Given the description of an element on the screen output the (x, y) to click on. 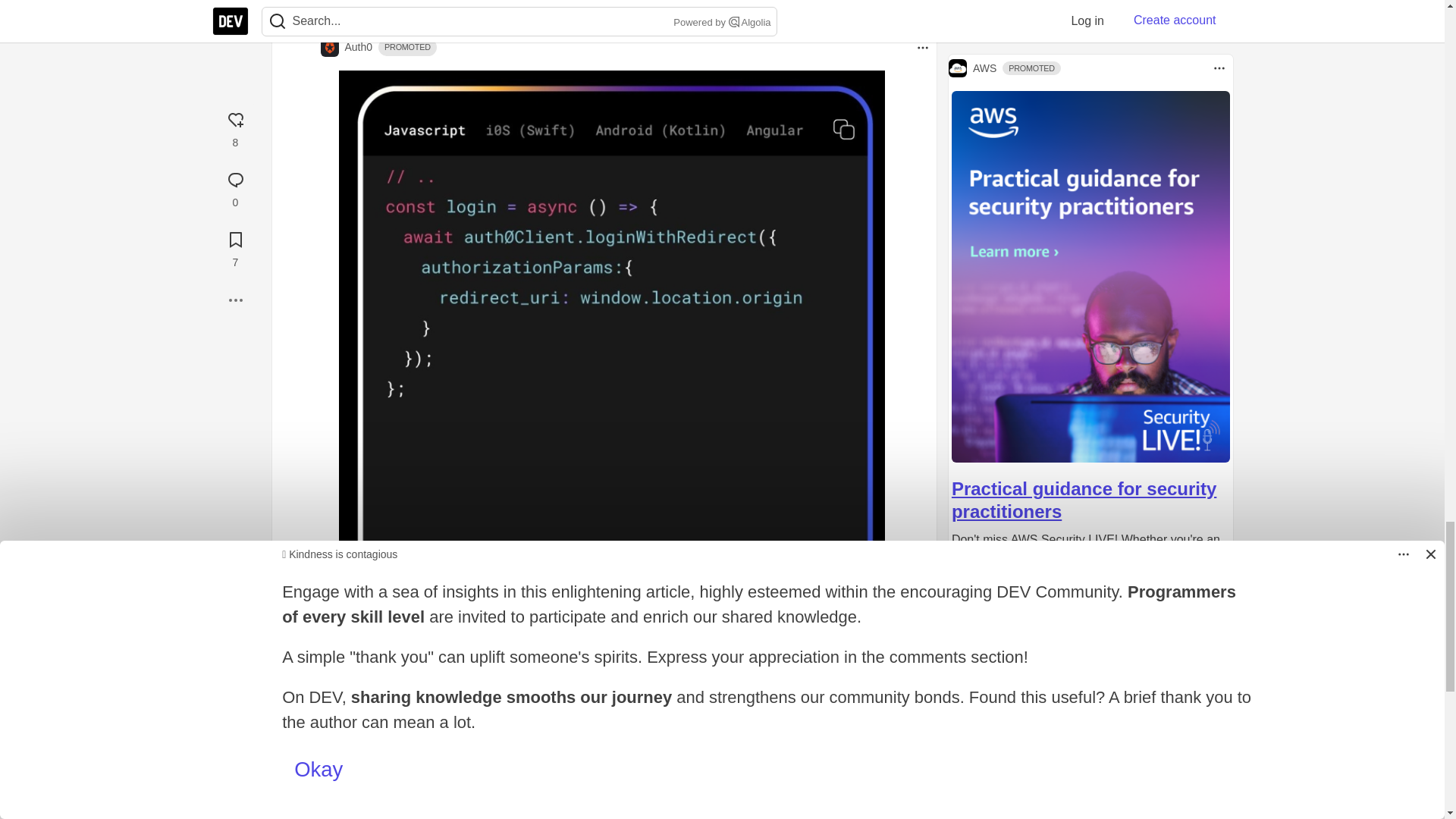
Dropdown menu (922, 47)
